Given the description of an element on the screen output the (x, y) to click on. 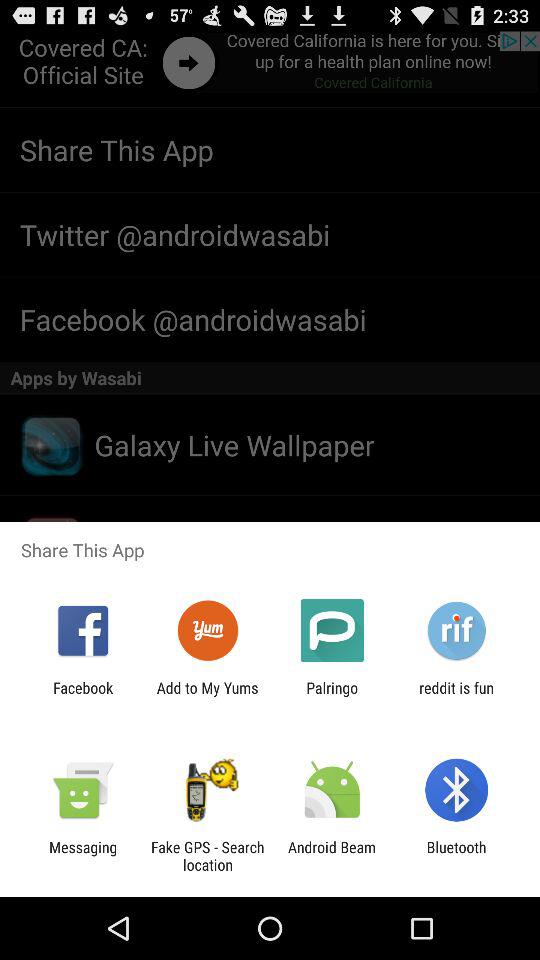
launch app to the right of messaging (207, 856)
